Given the description of an element on the screen output the (x, y) to click on. 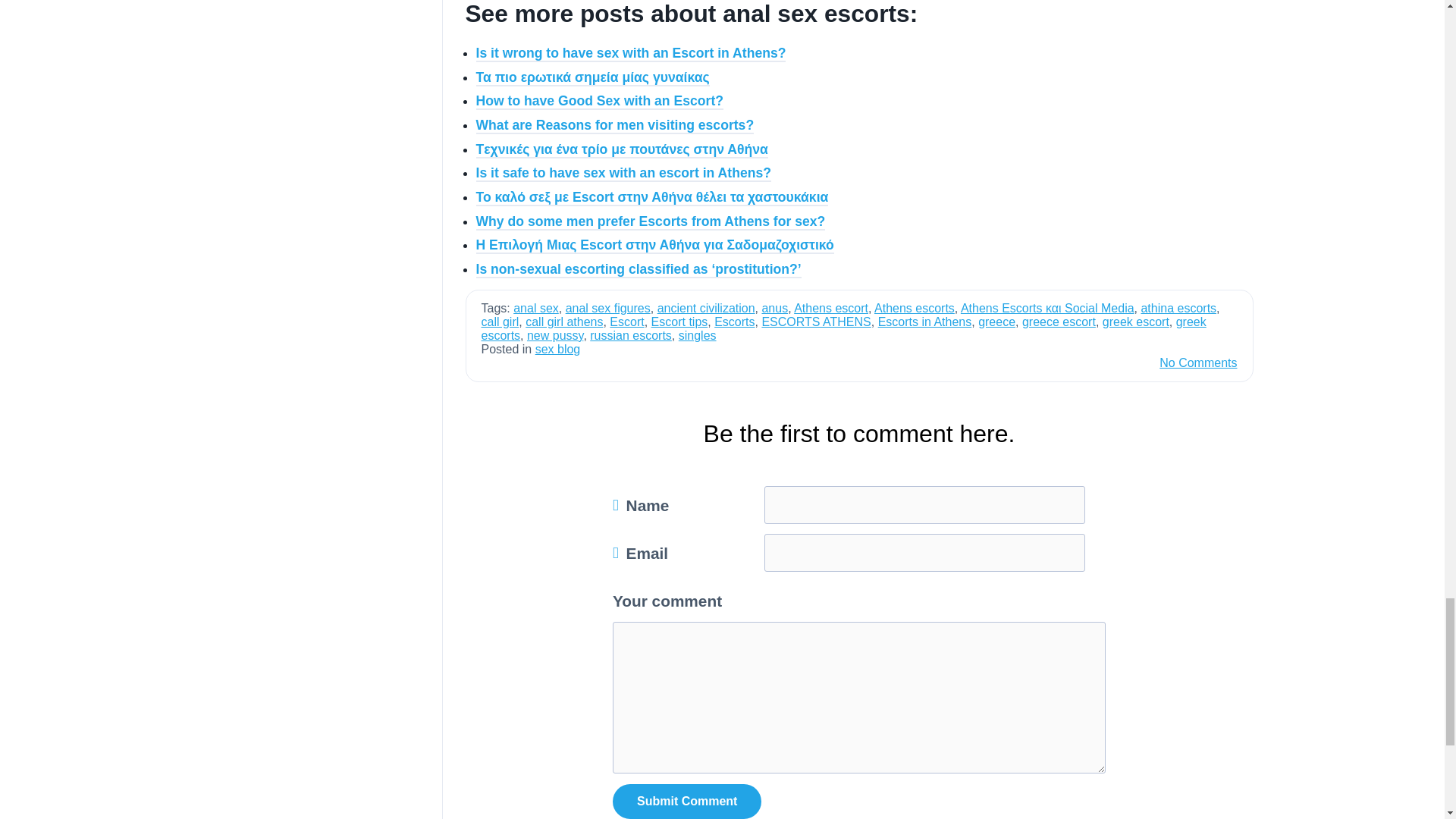
How to have Good Sex with an Escort? (599, 101)
Escorts in Athens (924, 321)
Why do some men prefer Escorts from Athens for sex? (650, 221)
anal sex figures (608, 308)
athina escorts (1177, 308)
greece (996, 321)
anal sex (536, 308)
greece escort (1059, 321)
What are Reasons for men visiting escorts? (615, 125)
anus (774, 308)
ancient civilization (706, 308)
Submit Comment (686, 801)
call girl athens (563, 321)
Is it safe to have sex with an escort in Athens? (623, 173)
Athens escort (830, 308)
